Given the description of an element on the screen output the (x, y) to click on. 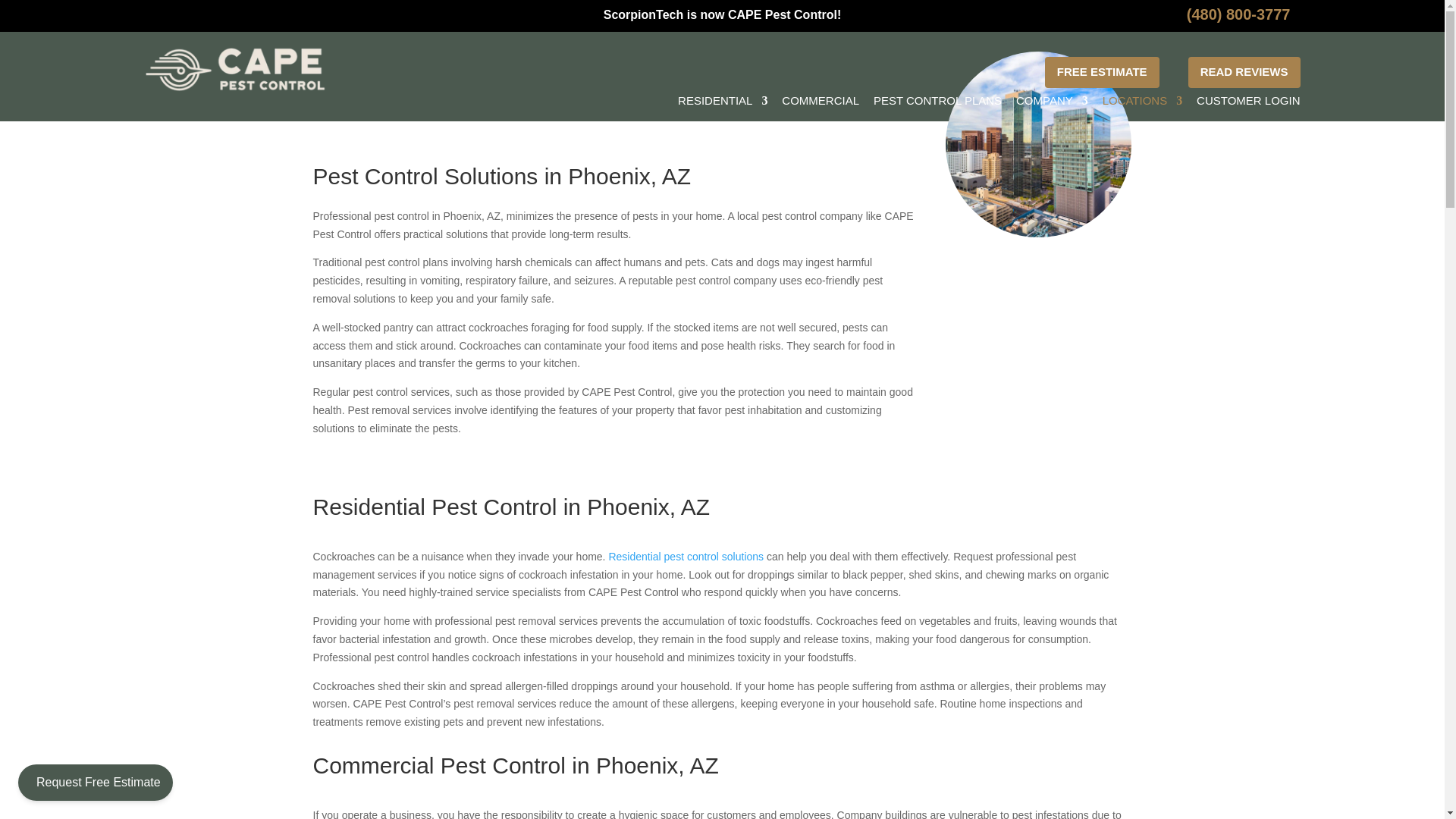
PEST CONTROL PLANS (937, 100)
LOCATIONS (1142, 100)
Cape Pest Control Phoenix Az 97544d07 1920w (1038, 144)
READ REVIEWS (1244, 71)
COMMERCIAL (820, 100)
RESIDENTIAL (722, 100)
COMPANY (1051, 100)
Request Free Estimate (95, 782)
FREE ESTIMATE (1101, 71)
